Given the description of an element on the screen output the (x, y) to click on. 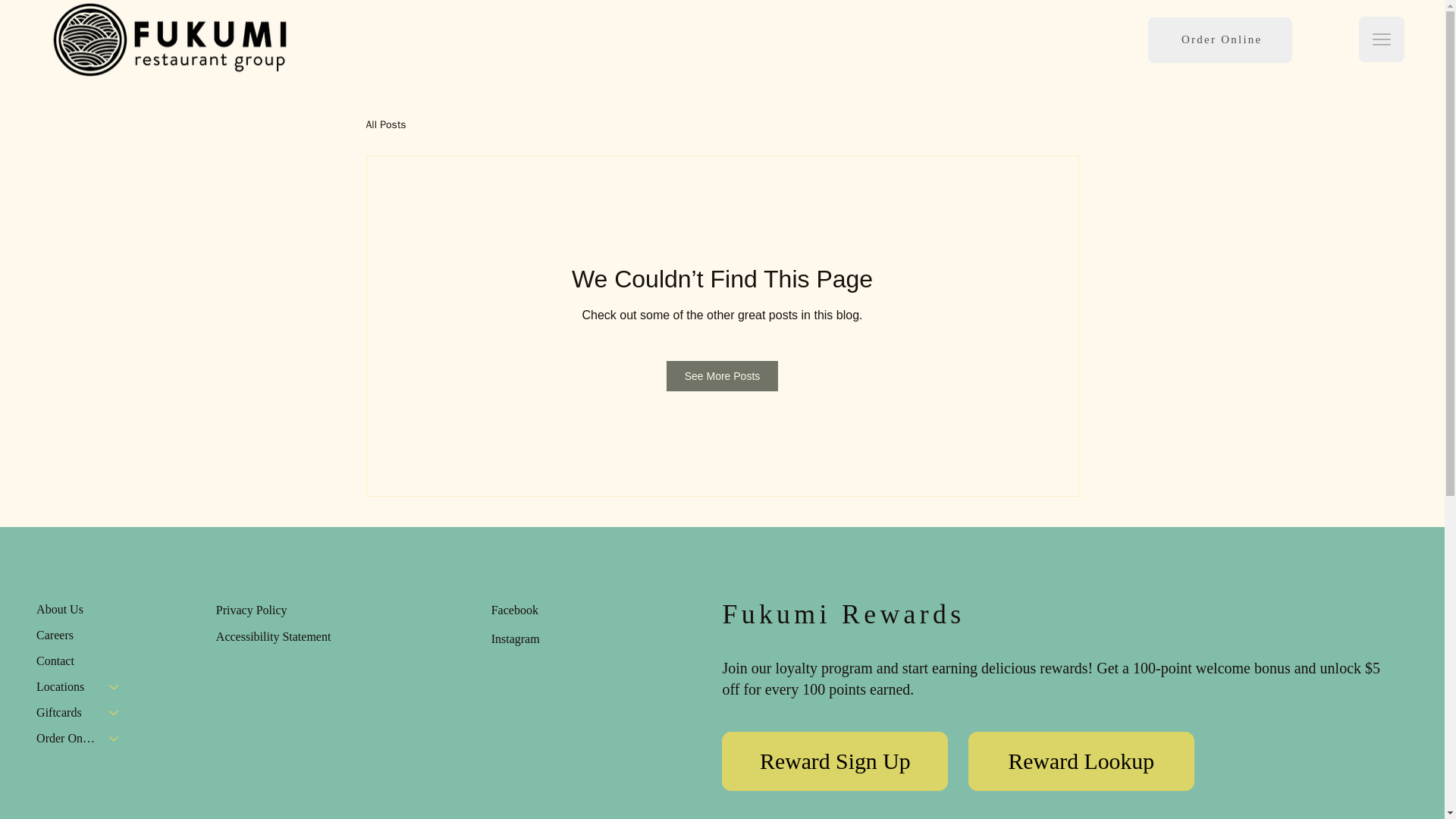
Careers (81, 635)
See More Posts (722, 376)
All Posts (385, 124)
Contact (81, 661)
Order Online (1220, 40)
About Us (81, 609)
